Given the description of an element on the screen output the (x, y) to click on. 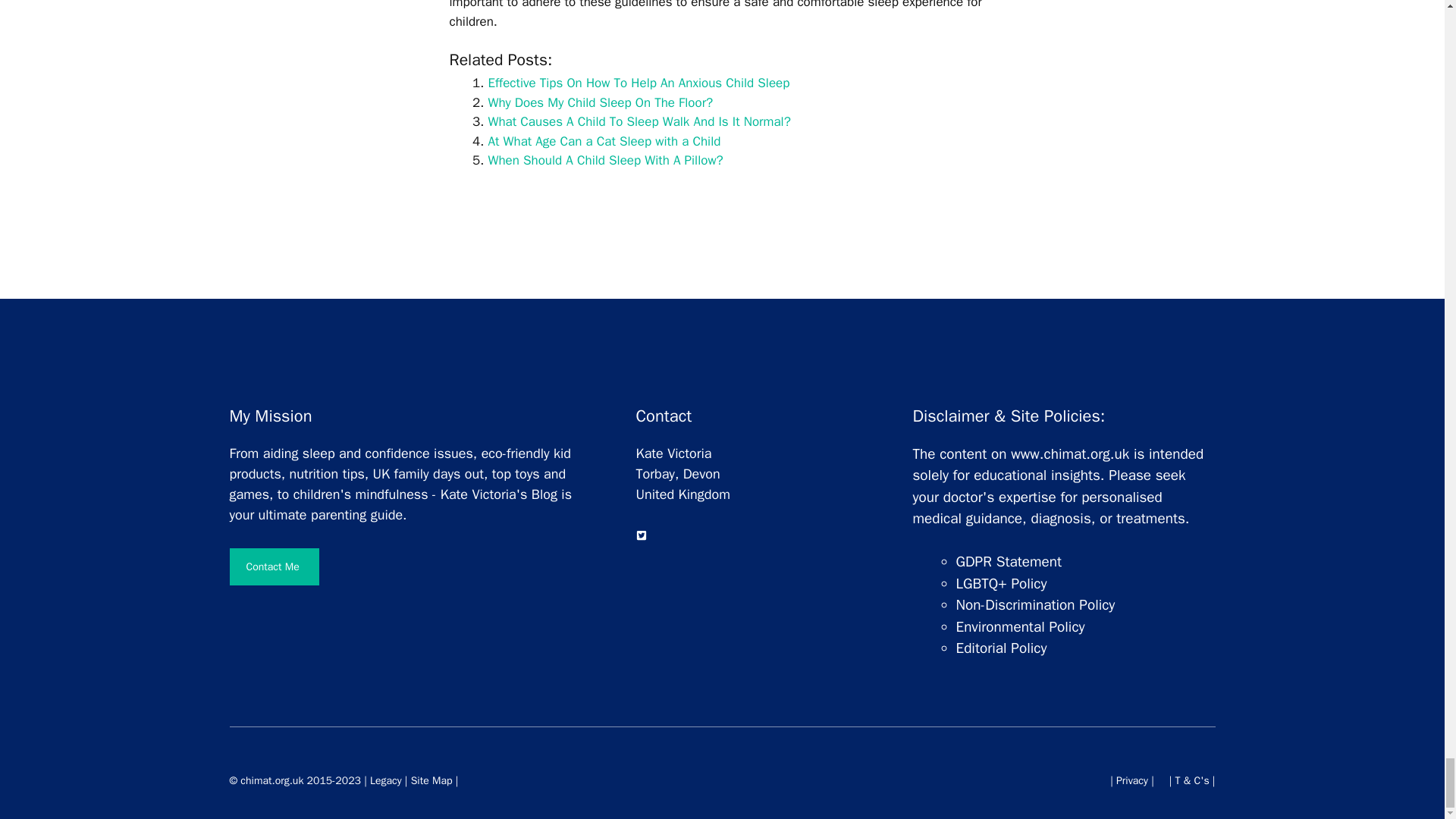
Why Does My Child Sleep On The Floor? (600, 102)
What Causes A Child To Sleep Walk And Is It Normal? (638, 121)
At What Age Can a Cat Sleep with a Child (603, 141)
Effective Tips On How To Help An Anxious Child Sleep (638, 82)
